Given the description of an element on the screen output the (x, y) to click on. 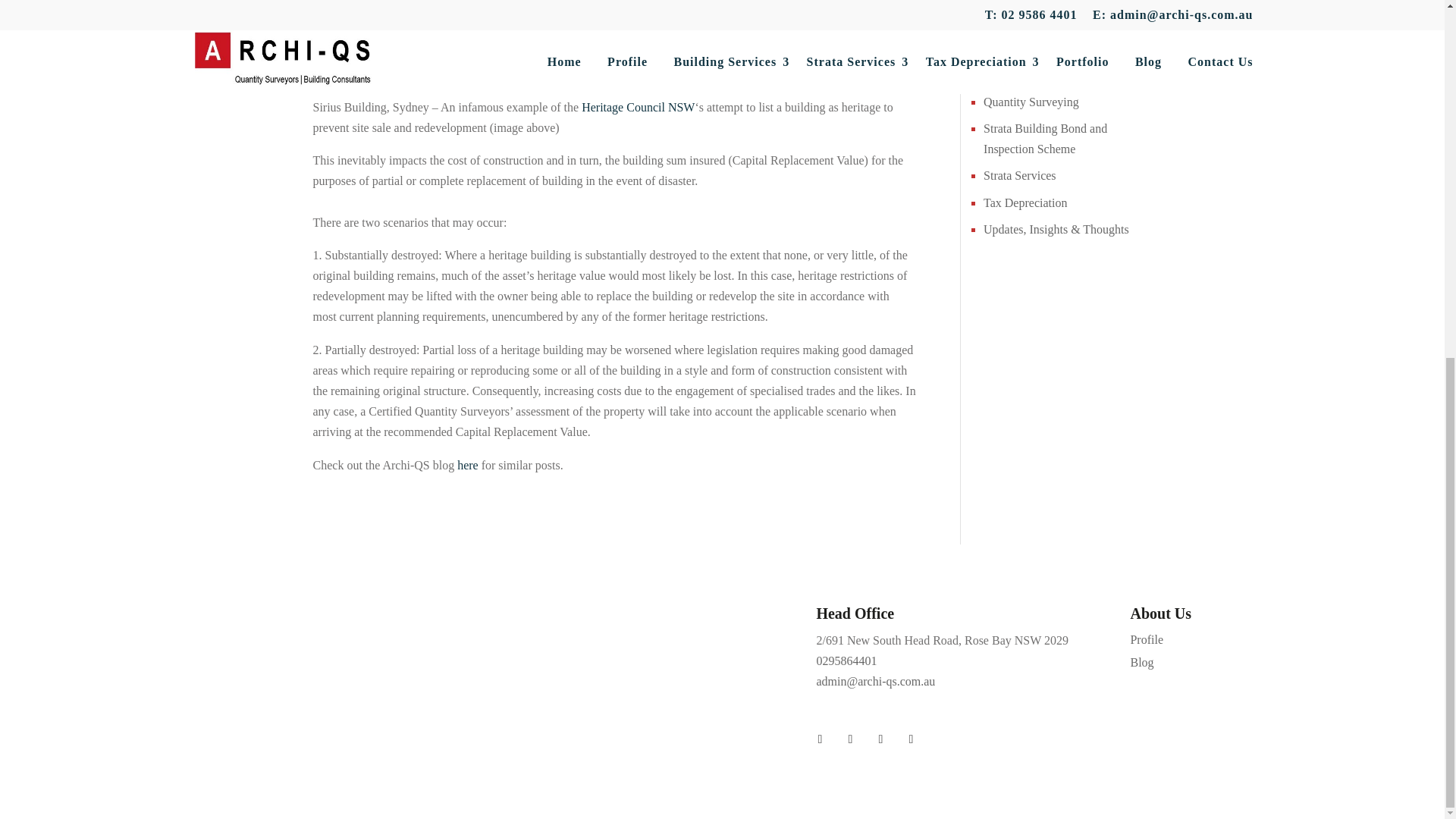
Follow on Instagram (849, 739)
Follow on LinkedIn (879, 739)
Follow on Youtube (910, 739)
Follow on Facebook (819, 739)
